Given the description of an element on the screen output the (x, y) to click on. 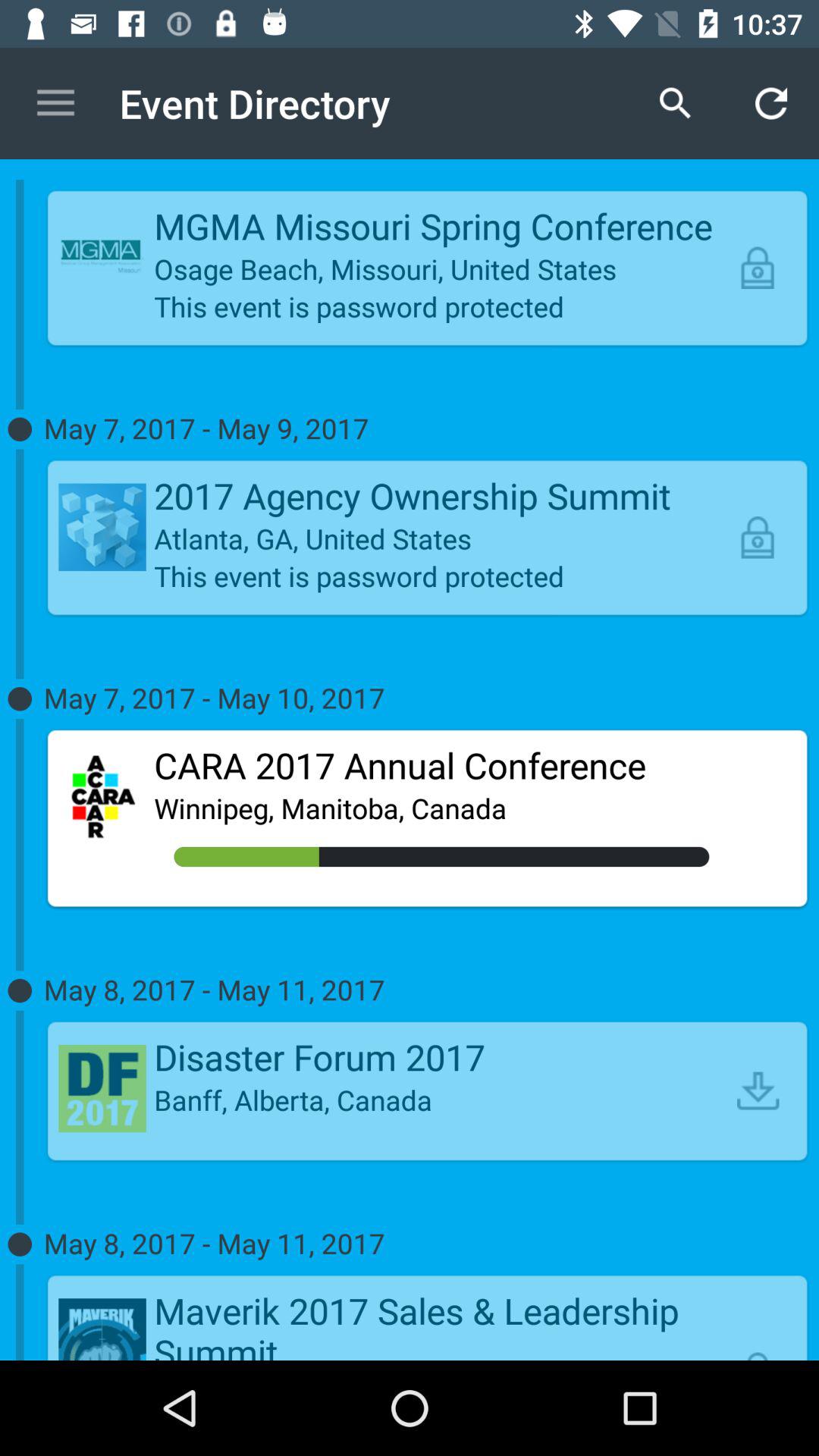
tap the banff, alberta, canada (441, 1099)
